Given the description of an element on the screen output the (x, y) to click on. 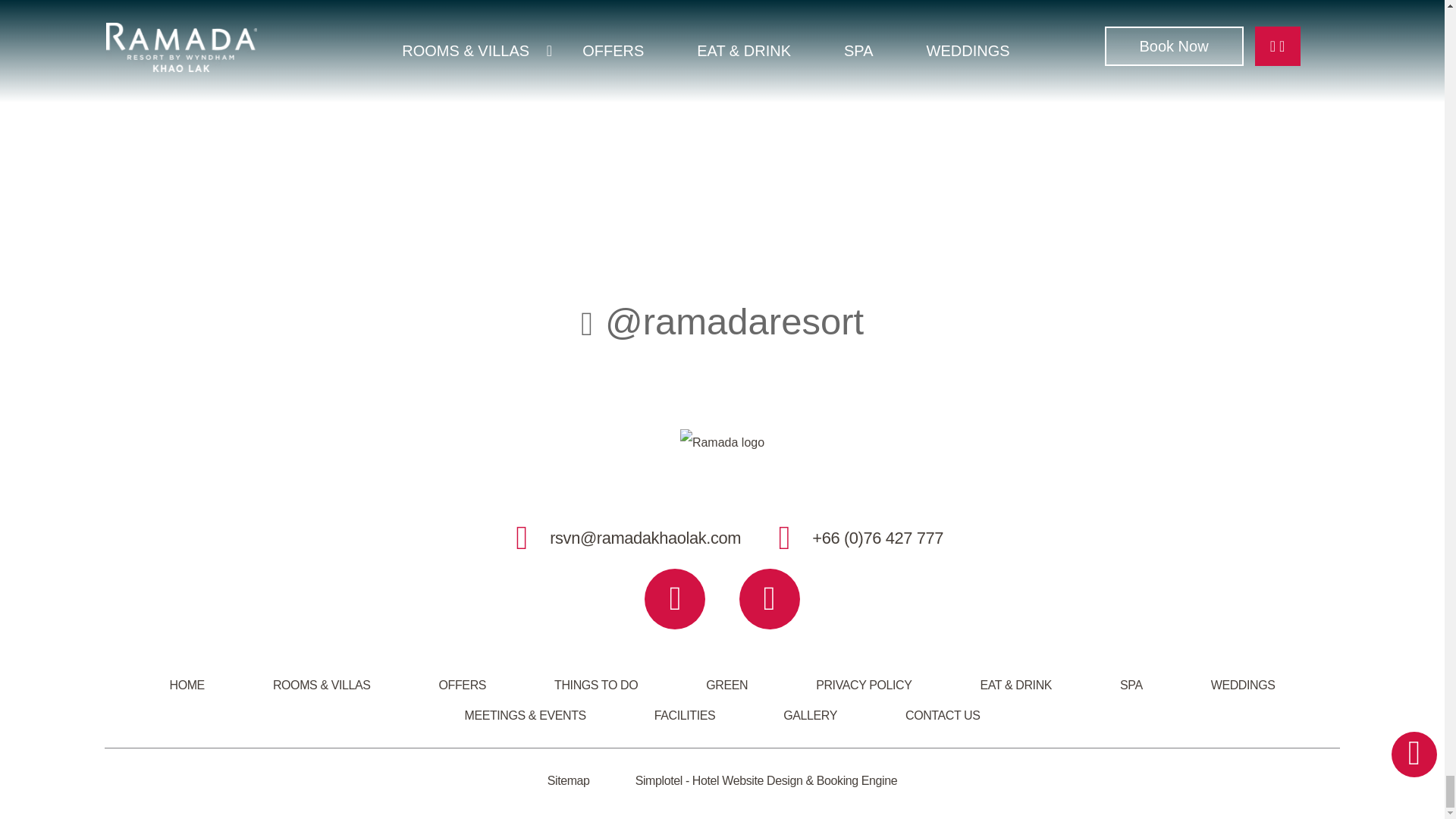
click here for sitemap (568, 780)
